Given the description of an element on the screen output the (x, y) to click on. 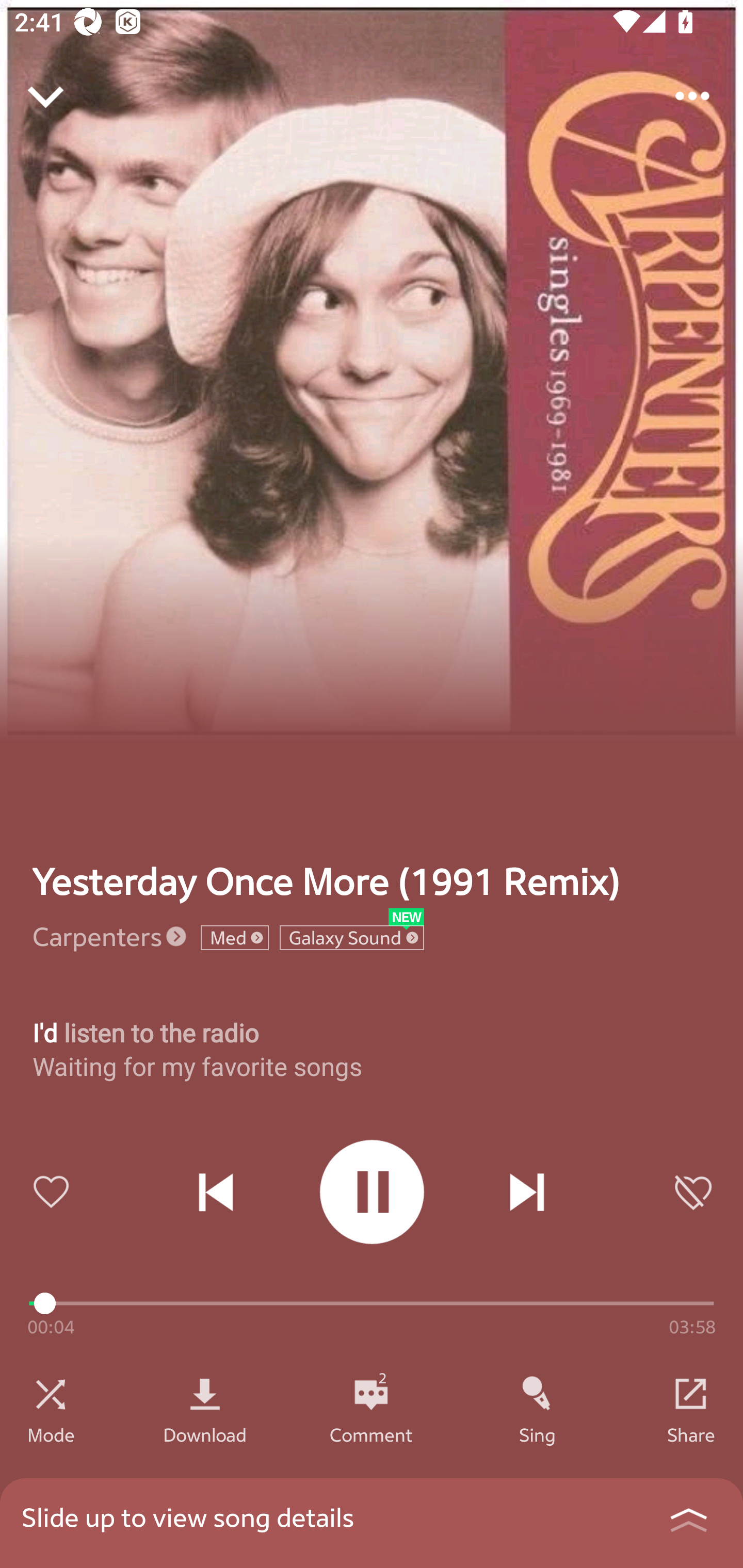
Yesterday Once More (1991 Remix) (325, 881)
Carpenters (97, 935)
Med (234, 937)
Galaxy Sound (351, 937)
2 (371, 1393)
Mode (51, 1434)
Download (204, 1434)
Comment (370, 1434)
Sing (537, 1434)
Share (691, 1434)
Slide up to view song details (371, 1523)
